Given the description of an element on the screen output the (x, y) to click on. 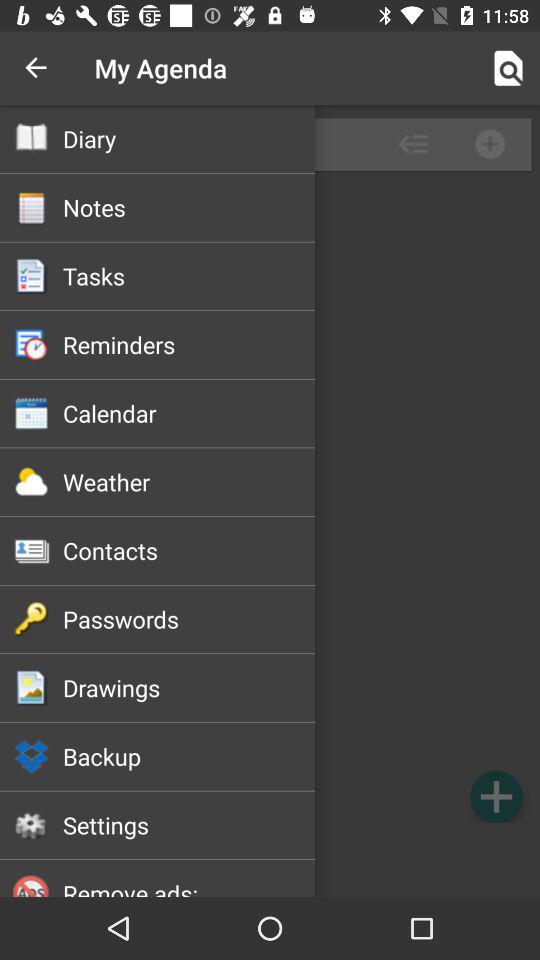
open item above the drawings item (188, 619)
